Given the description of an element on the screen output the (x, y) to click on. 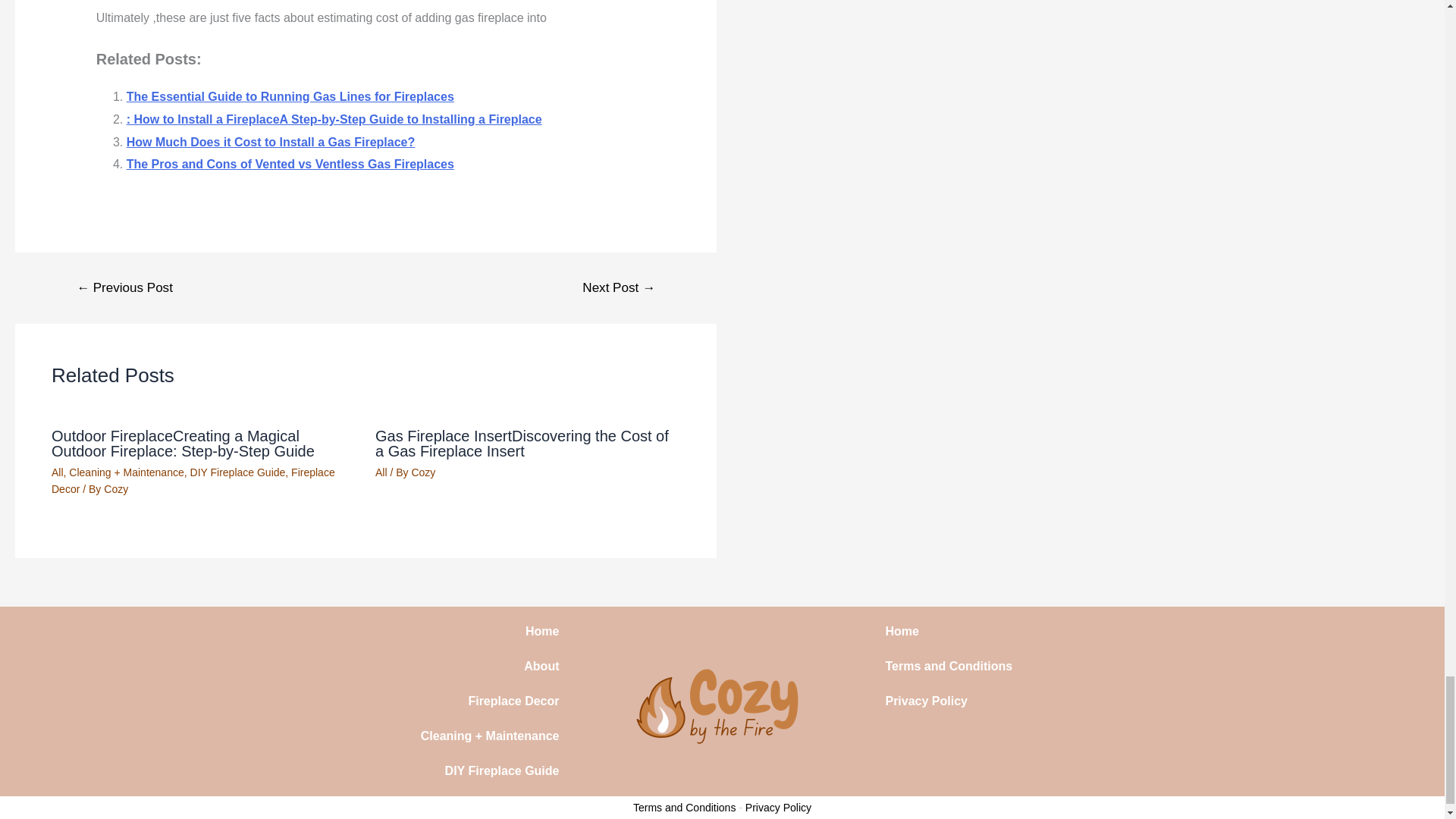
The Essential Guide to Running Gas Lines for Fireplaces (290, 96)
All (57, 472)
The Essential Guide to Running Gas Lines for Fireplaces (290, 96)
View all posts by Cozy (115, 489)
DIY Fireplace Guide (237, 472)
How Much Does it Cost to Install a Gas Fireplace? (270, 141)
How Much Does it Cost to Install a Gas Fireplace? (270, 141)
View all posts by Cozy (422, 472)
The Pros and Cons of Vented vs Ventless Gas Fireplaces (290, 164)
The Pros and Cons of Vented vs Ventless Gas Fireplaces (290, 164)
